Given the description of an element on the screen output the (x, y) to click on. 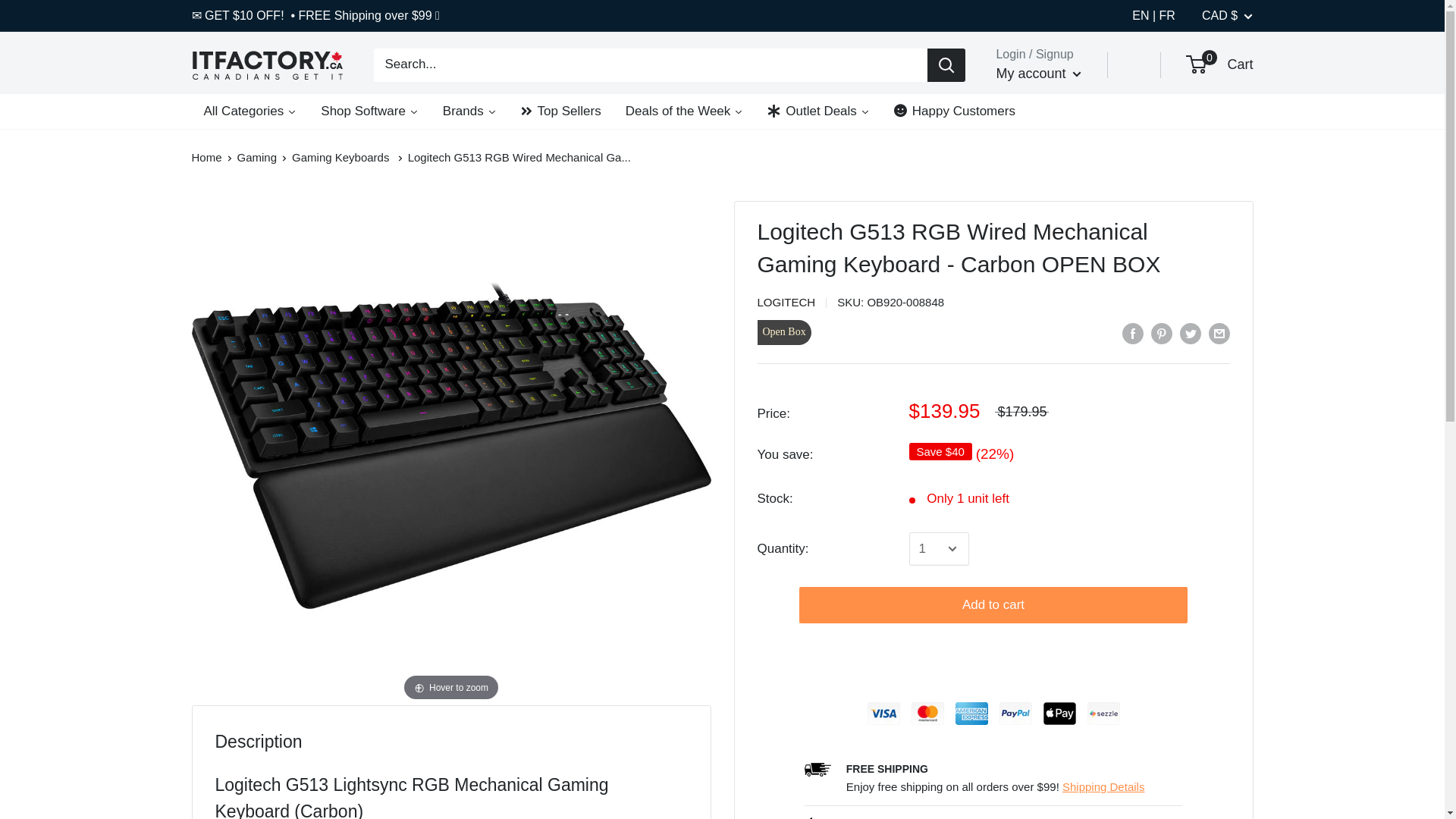
Happy Customers (954, 111)
CAD (1241, 55)
All Categories (249, 111)
Shop Software (369, 111)
My account (1038, 73)
Top Sellers (560, 111)
USD (1241, 79)
Outlet Deals (818, 111)
English (1144, 15)
Gaming Keyboards (340, 156)
All Categories (249, 111)
Brands (469, 111)
Shop Software (369, 111)
Deals of the Week (683, 111)
Brands (469, 111)
